Given the description of an element on the screen output the (x, y) to click on. 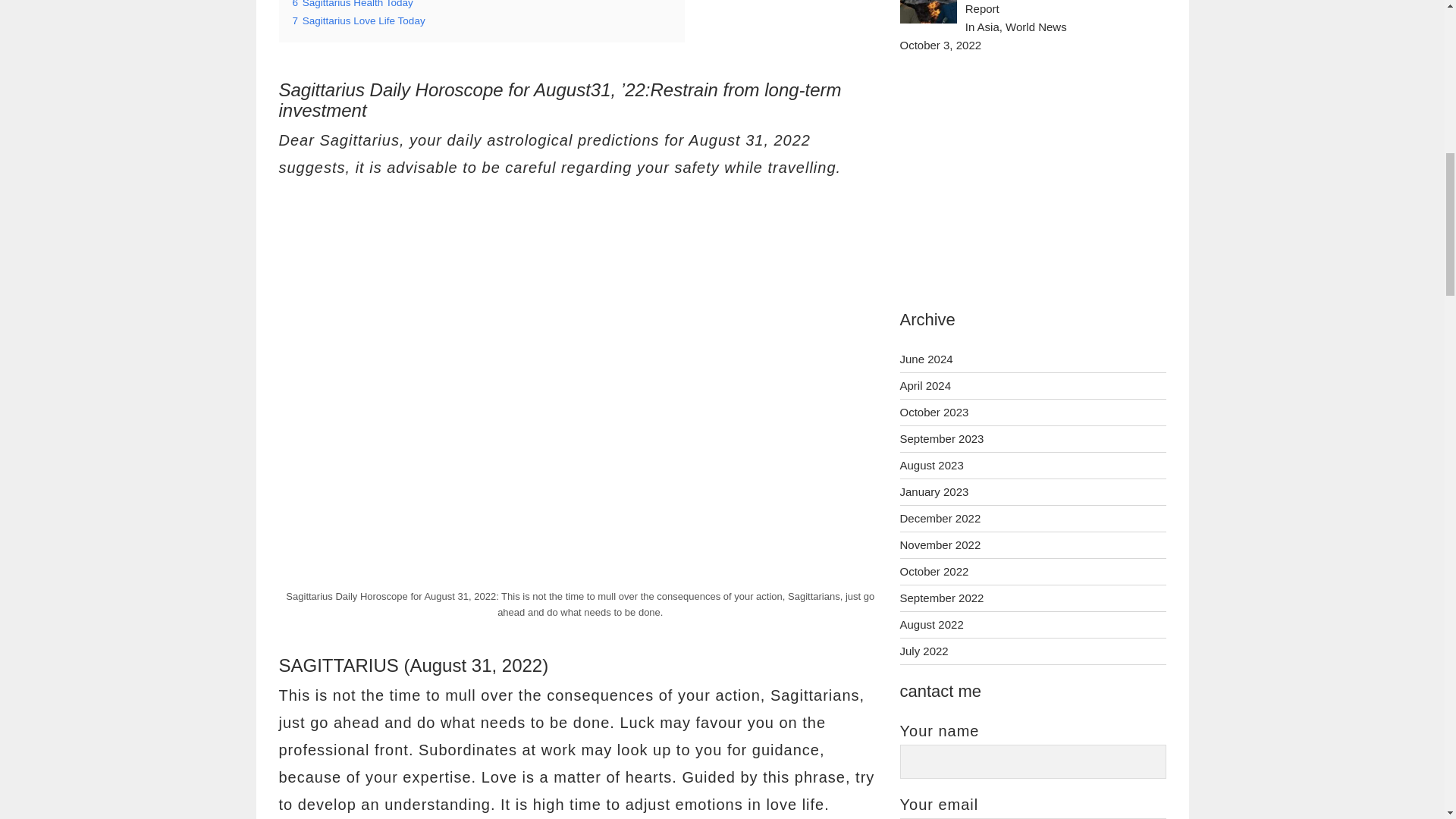
Advertisement (580, 268)
